Given the description of an element on the screen output the (x, y) to click on. 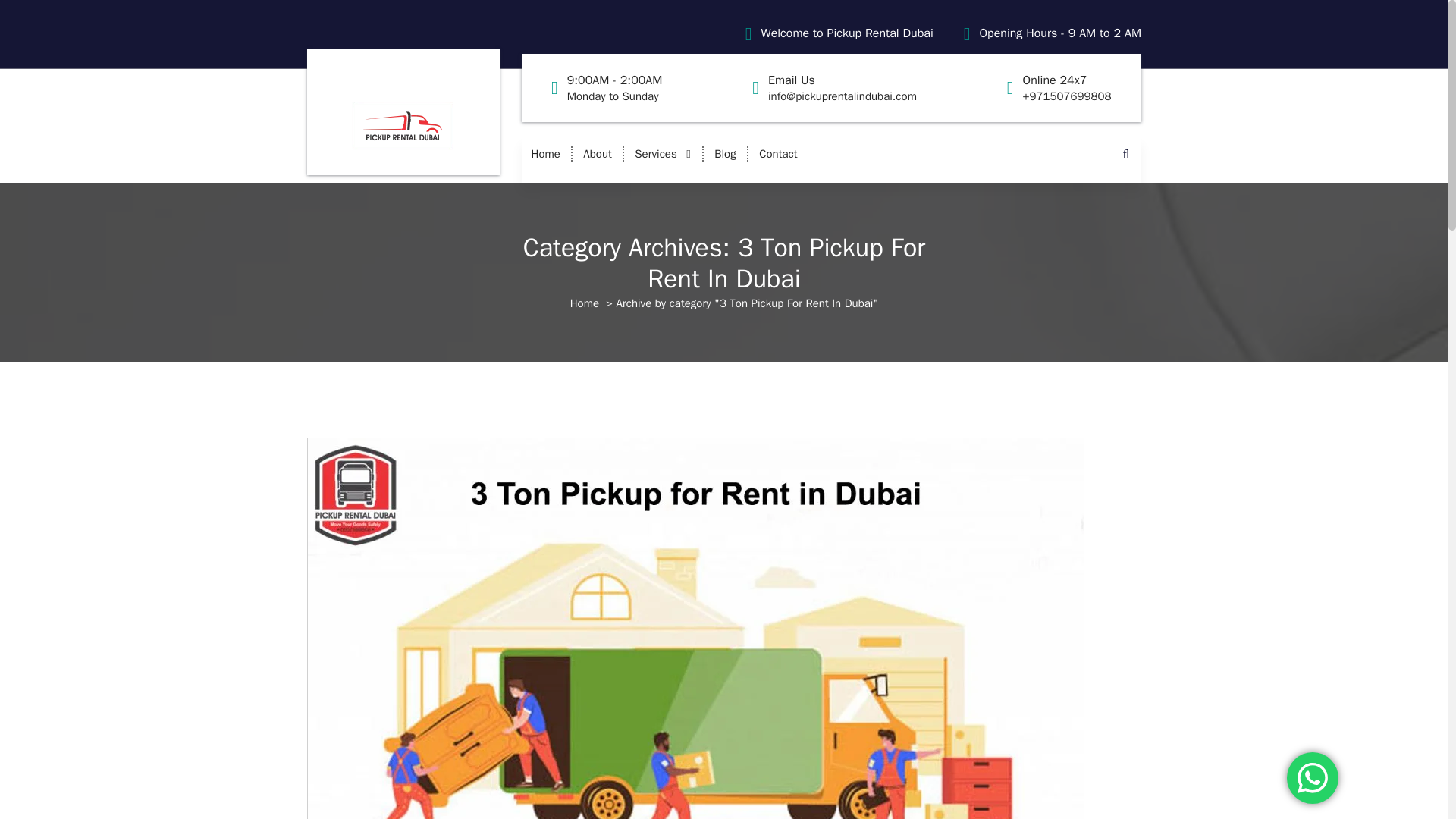
Services (663, 153)
Opening Hours - 9 AM to 2 AM (614, 87)
Home (1059, 33)
Blog (545, 153)
Services (724, 153)
About (663, 153)
Contact (596, 153)
About (777, 153)
Welcome to Pickup Rental Dubai (596, 153)
Home (847, 33)
